Given the description of an element on the screen output the (x, y) to click on. 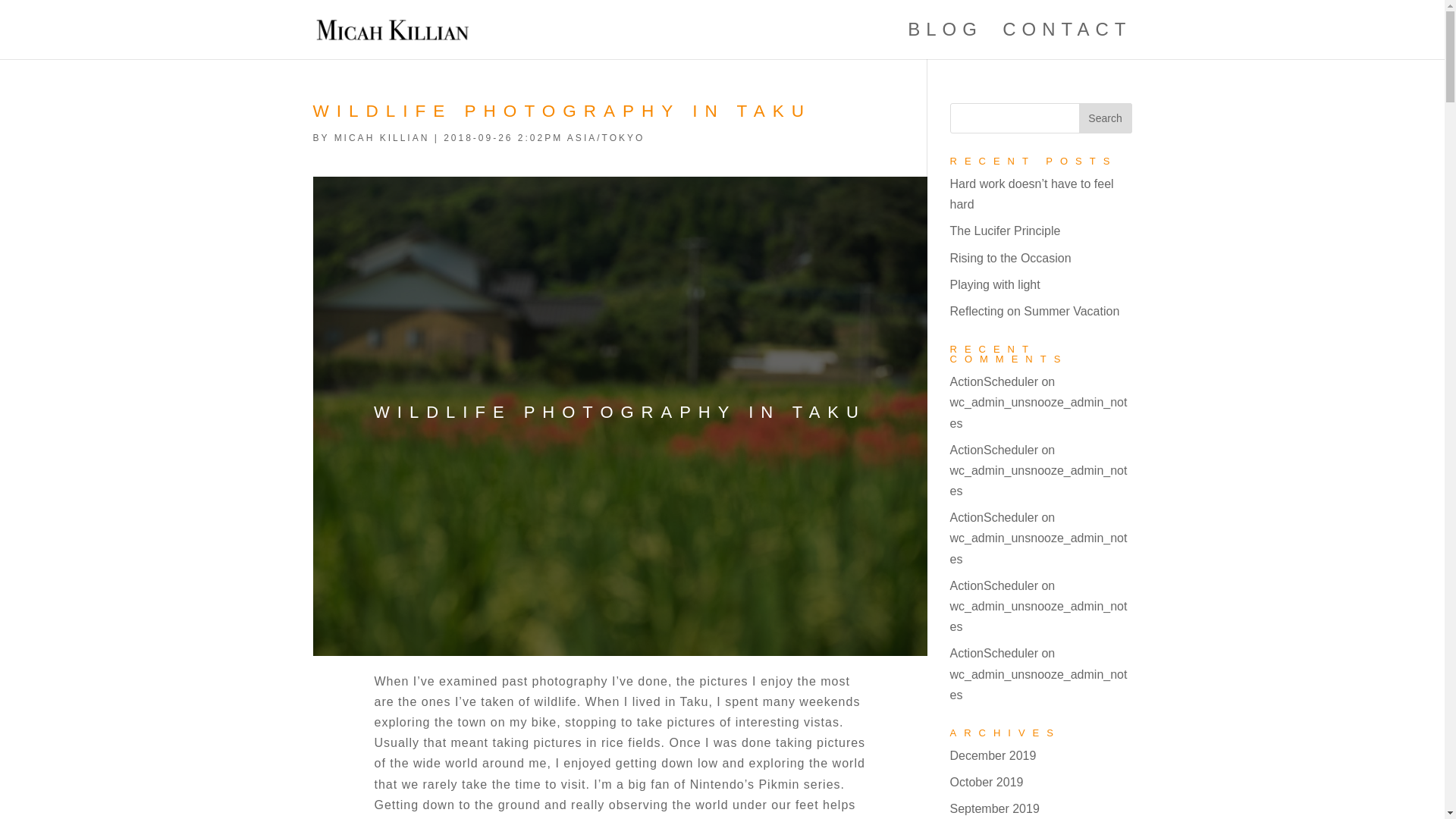
Rising to the Occasion (1009, 257)
The Lucifer Principle (1004, 230)
Posts by Micah Killian (381, 137)
MICAH KILLIAN (381, 137)
Search (1104, 118)
Search (1104, 118)
WILDLIFE PHOTOGRAPHY IN TAKU (561, 110)
September 2019 (994, 808)
October 2019 (986, 781)
Reflecting on Summer Vacation (1034, 310)
December 2019 (992, 755)
CONTACT (1067, 41)
BLOG (944, 41)
Playing with light (994, 284)
